Given the description of an element on the screen output the (x, y) to click on. 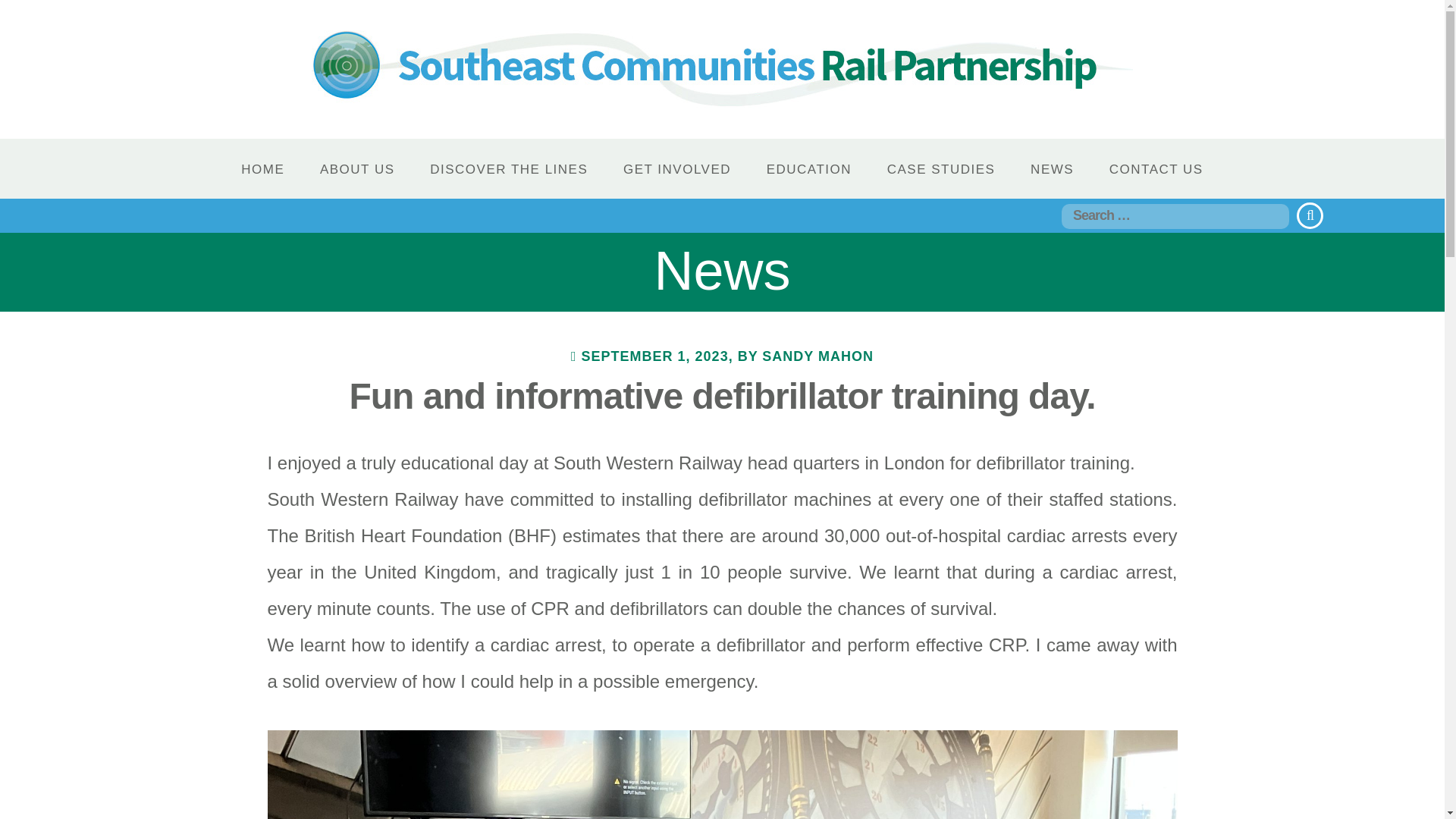
ABOUT US (357, 169)
NEWS (1052, 169)
HOME (262, 169)
DISCOVER THE LINES (508, 169)
GET INVOLVED (676, 169)
Southeast Communities Rail Partnership (721, 69)
CONTACT US (1156, 169)
CASE STUDIES (940, 169)
EDUCATION (809, 169)
